Given the description of an element on the screen output the (x, y) to click on. 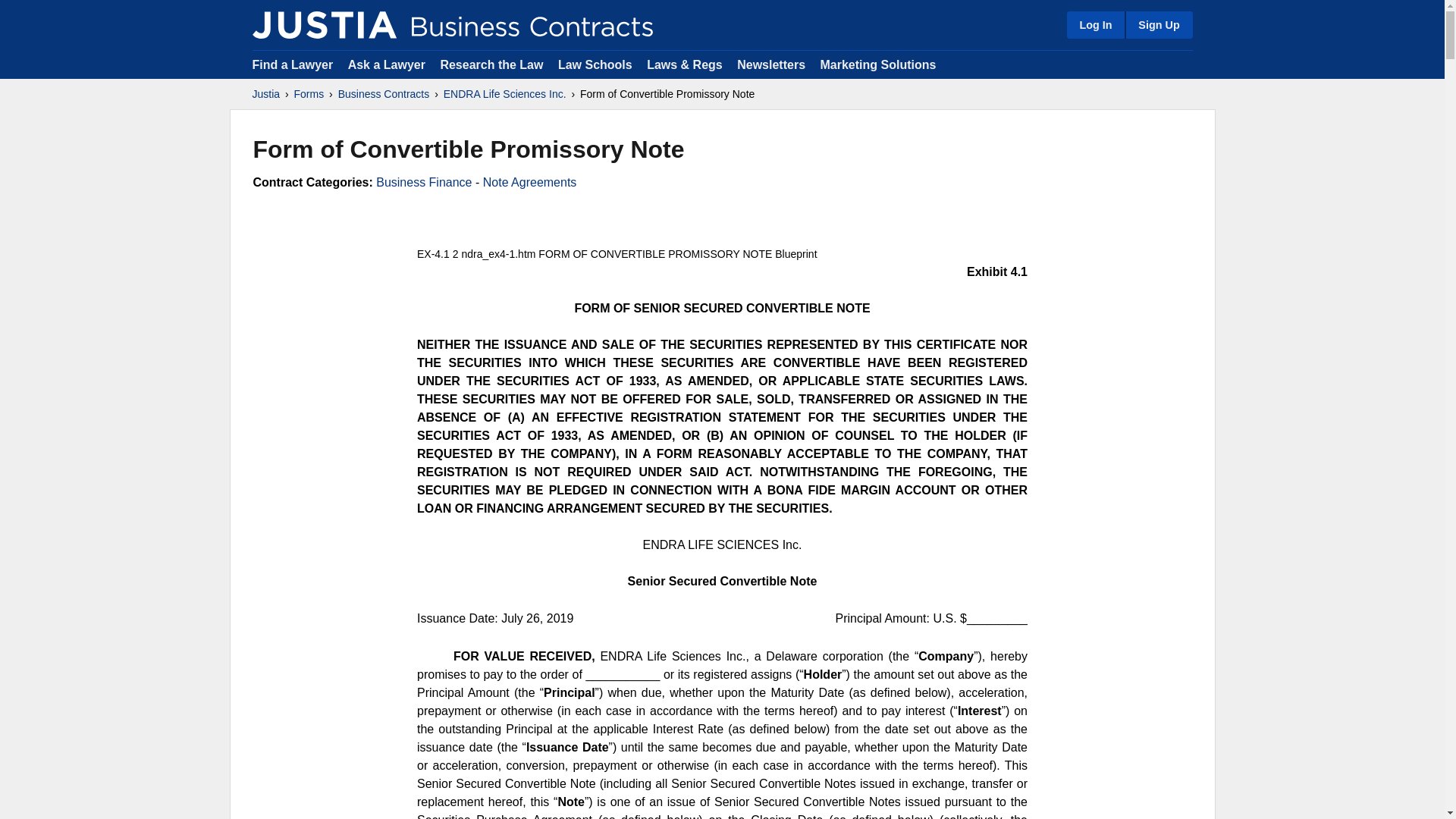
Business Finance (423, 182)
Business Contracts (383, 93)
Log In (1094, 24)
Justia (265, 93)
Sign Up (1158, 24)
Note Agreements (529, 182)
Law Schools (594, 64)
Justia (323, 24)
ENDRA Life Sciences Inc. (505, 93)
Find a Lawyer (292, 64)
Newsletters (770, 64)
Forms (309, 93)
Research the Law (491, 64)
Ask a Lawyer (388, 64)
Marketing Solutions (877, 64)
